Given the description of an element on the screen output the (x, y) to click on. 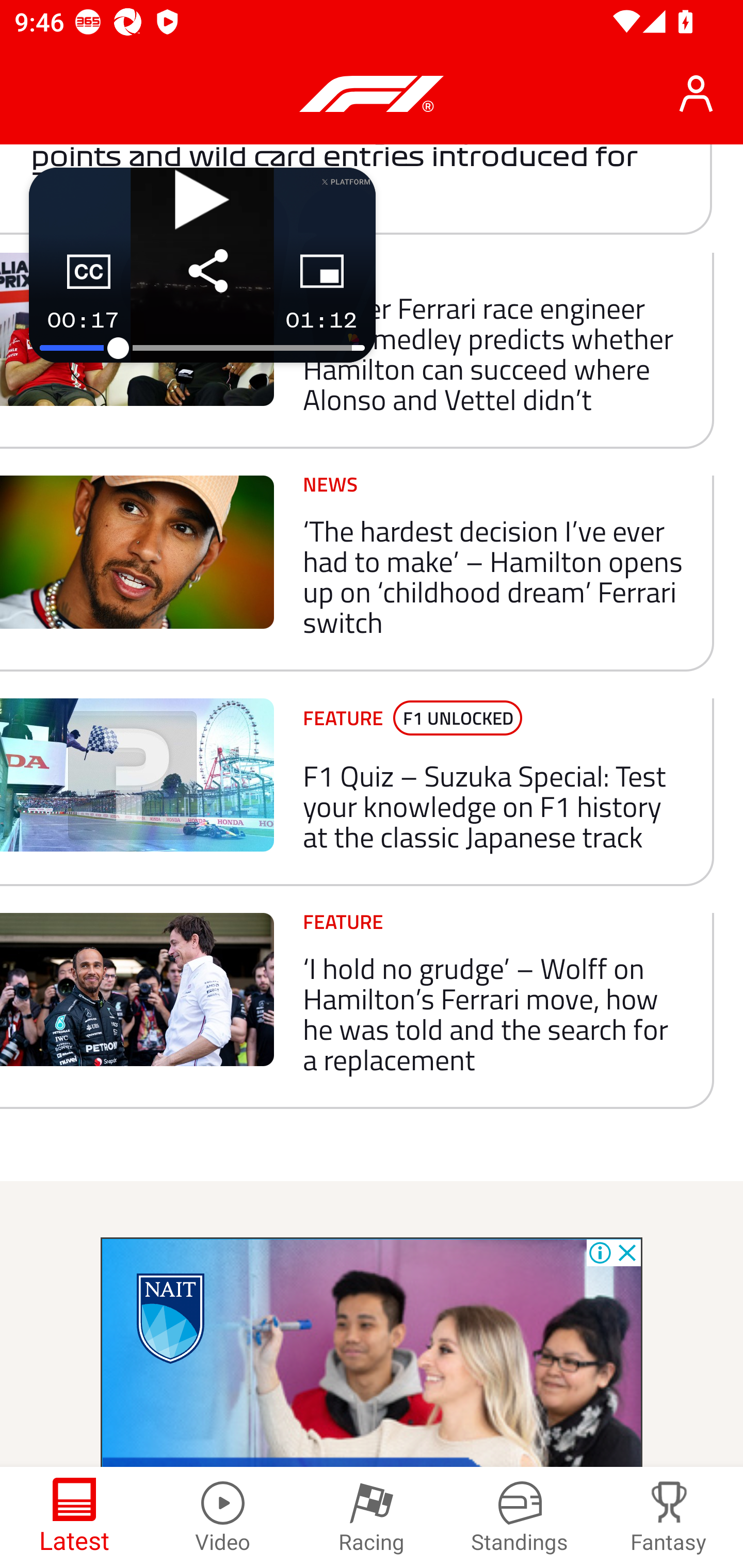
Video (222, 1517)
Racing (371, 1517)
Standings (519, 1517)
Fantasy (668, 1517)
